Given the description of an element on the screen output the (x, y) to click on. 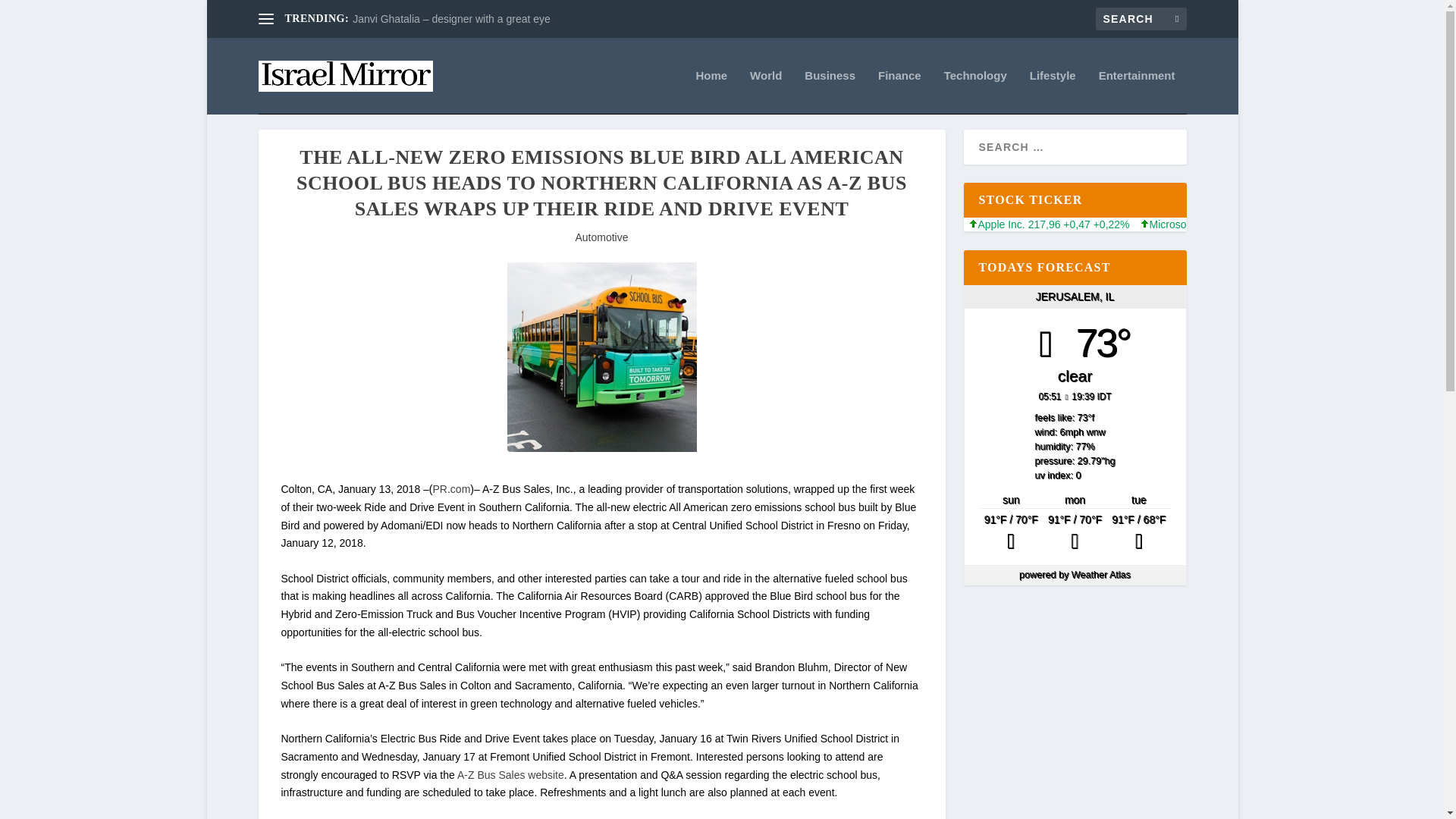
A-Z Bus Sales website (510, 775)
PR.com (451, 489)
Business (830, 91)
Automotive (601, 236)
Finance (899, 91)
Technology (975, 91)
